Given the description of an element on the screen output the (x, y) to click on. 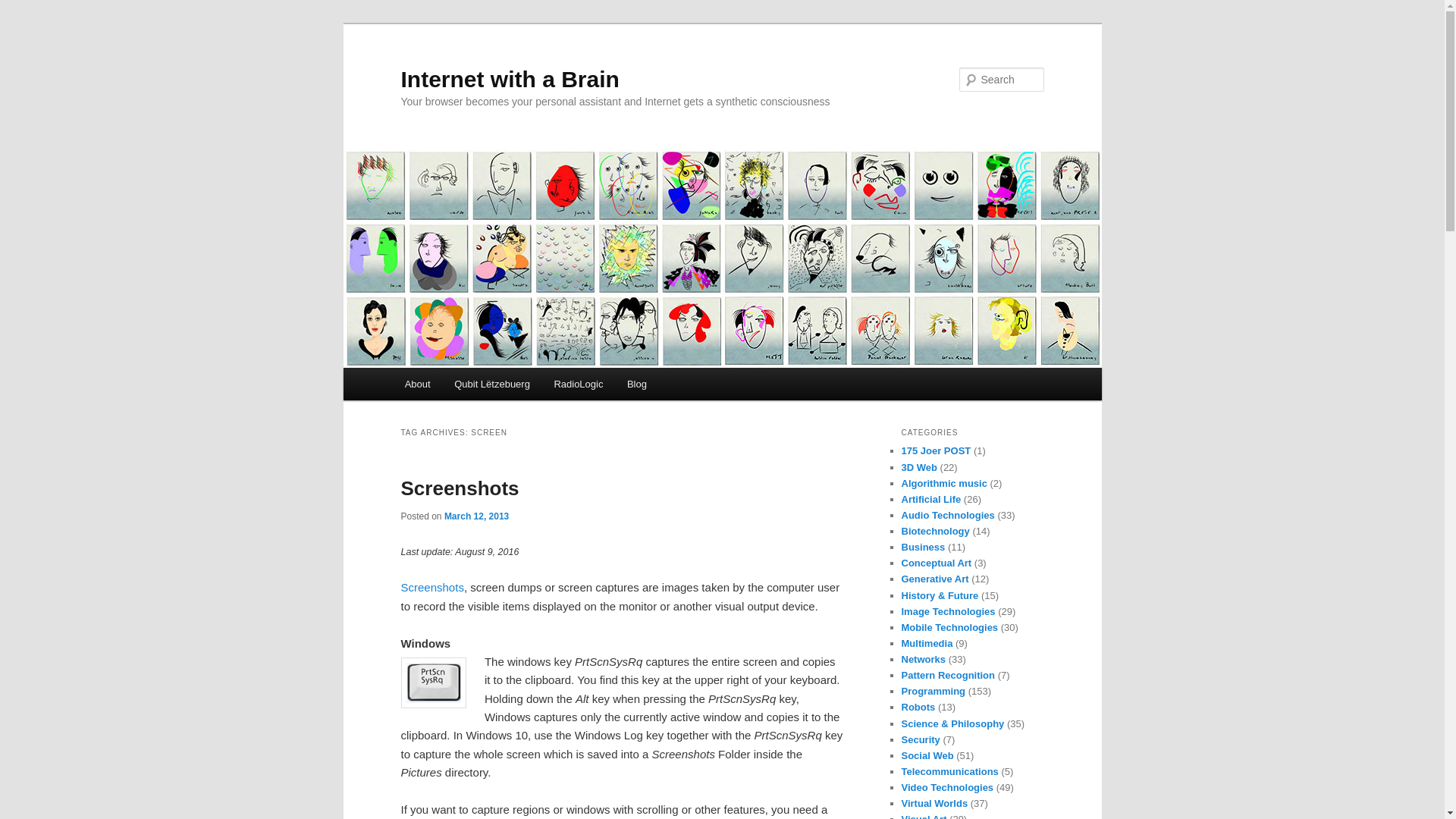
3D Web (918, 467)
Screenshots (459, 487)
Generative Art (934, 578)
Screenshot (431, 586)
Artificial Life (930, 499)
About (417, 383)
Blog (636, 383)
March 12, 2013 (476, 516)
Conceptual Art (936, 562)
Algorithmic music (944, 482)
Biotechnology (935, 531)
Screenshots (431, 586)
175 Joer POST (936, 450)
22:59 (476, 516)
